Given the description of an element on the screen output the (x, y) to click on. 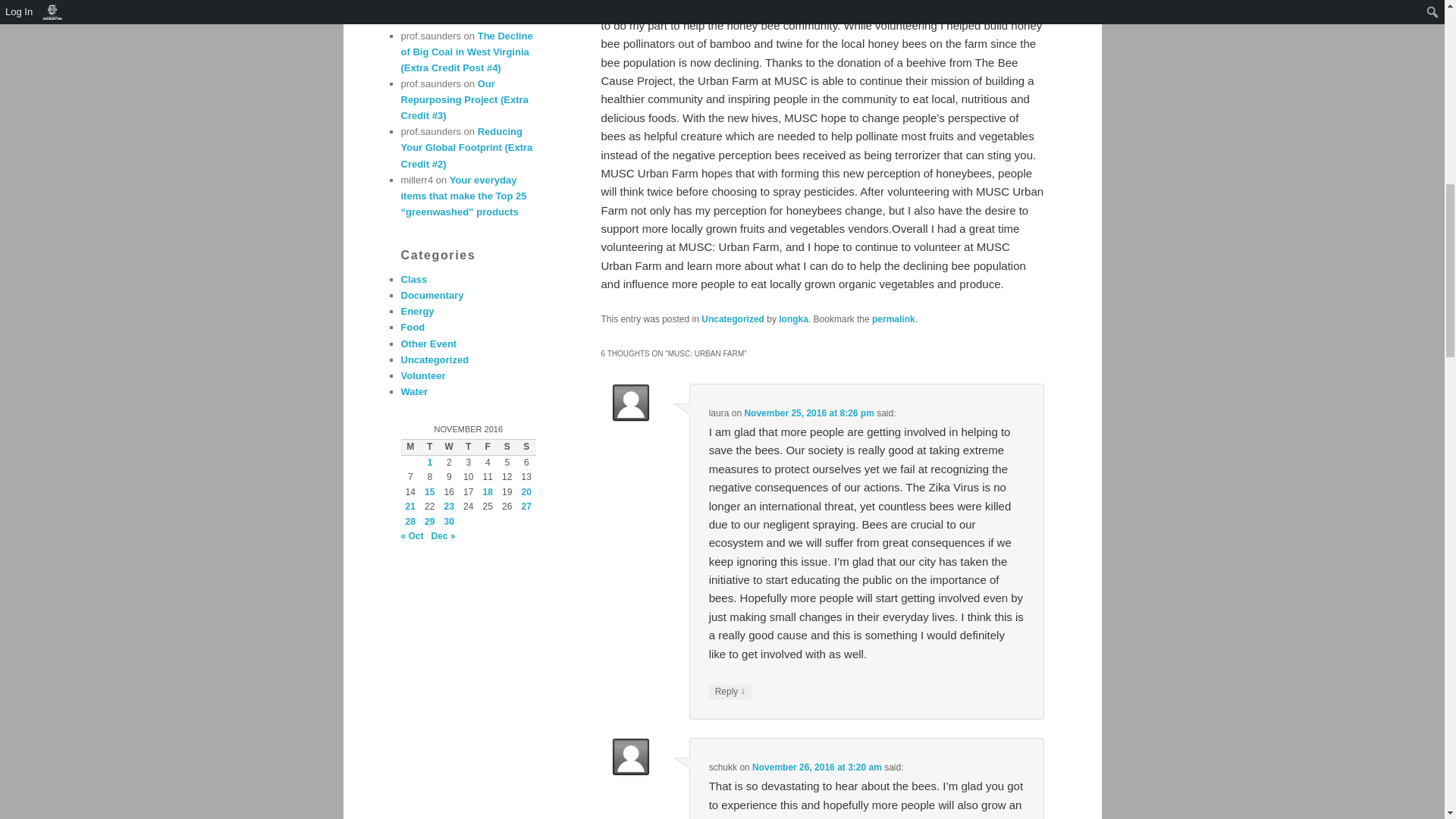
Permalink to MUSC: Urban Farm (893, 318)
Greenwashing at Aldi (466, 12)
permalink (893, 318)
Tuesday (429, 446)
Uncategorized (732, 318)
November 26, 2016 at 3:20 am (817, 767)
Wednesday (449, 446)
Friday (487, 446)
Class (413, 279)
longka (793, 318)
Sunday (526, 446)
Thursday (468, 446)
Saturday (506, 446)
Monday (410, 446)
Documentary (431, 295)
